Given the description of an element on the screen output the (x, y) to click on. 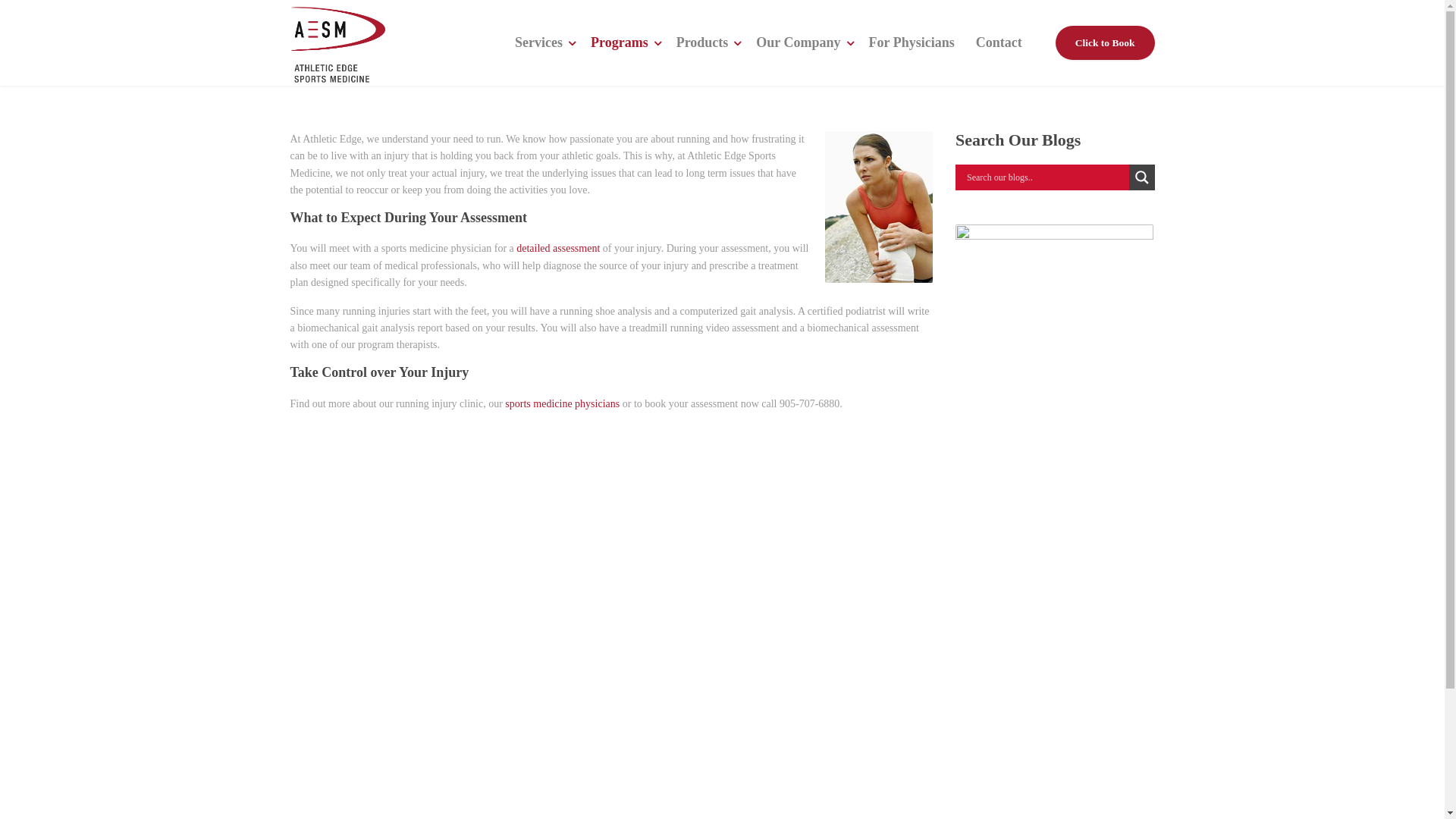
Programs Element type: text (622, 42)
Athletic Edge Sports Medicine Element type: hover (336, 42)
Contact Element type: text (998, 42)
Click to Book Element type: text (1104, 42)
Services Element type: text (542, 42)
detailed assessment Element type: text (557, 248)
sports medicine physicians Element type: text (562, 402)
For Physicians Element type: text (911, 42)
Products Element type: text (705, 42)
Our Company Element type: text (801, 42)
